Given the description of an element on the screen output the (x, y) to click on. 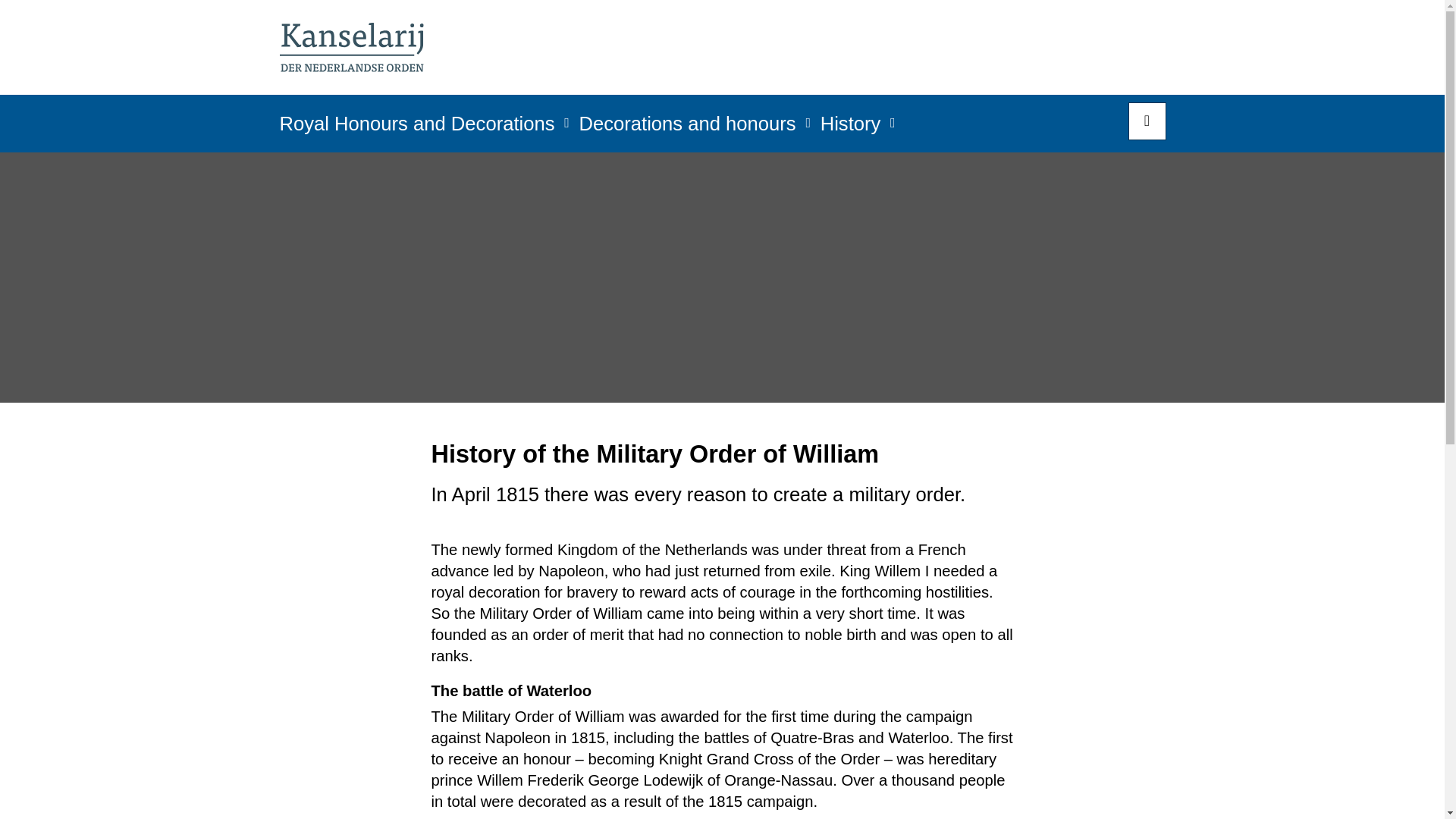
Royal Honours and Decorations (416, 128)
History (850, 128)
Search (1146, 121)
Decorations and honours (687, 128)
Start search (1146, 121)
